Given the description of an element on the screen output the (x, y) to click on. 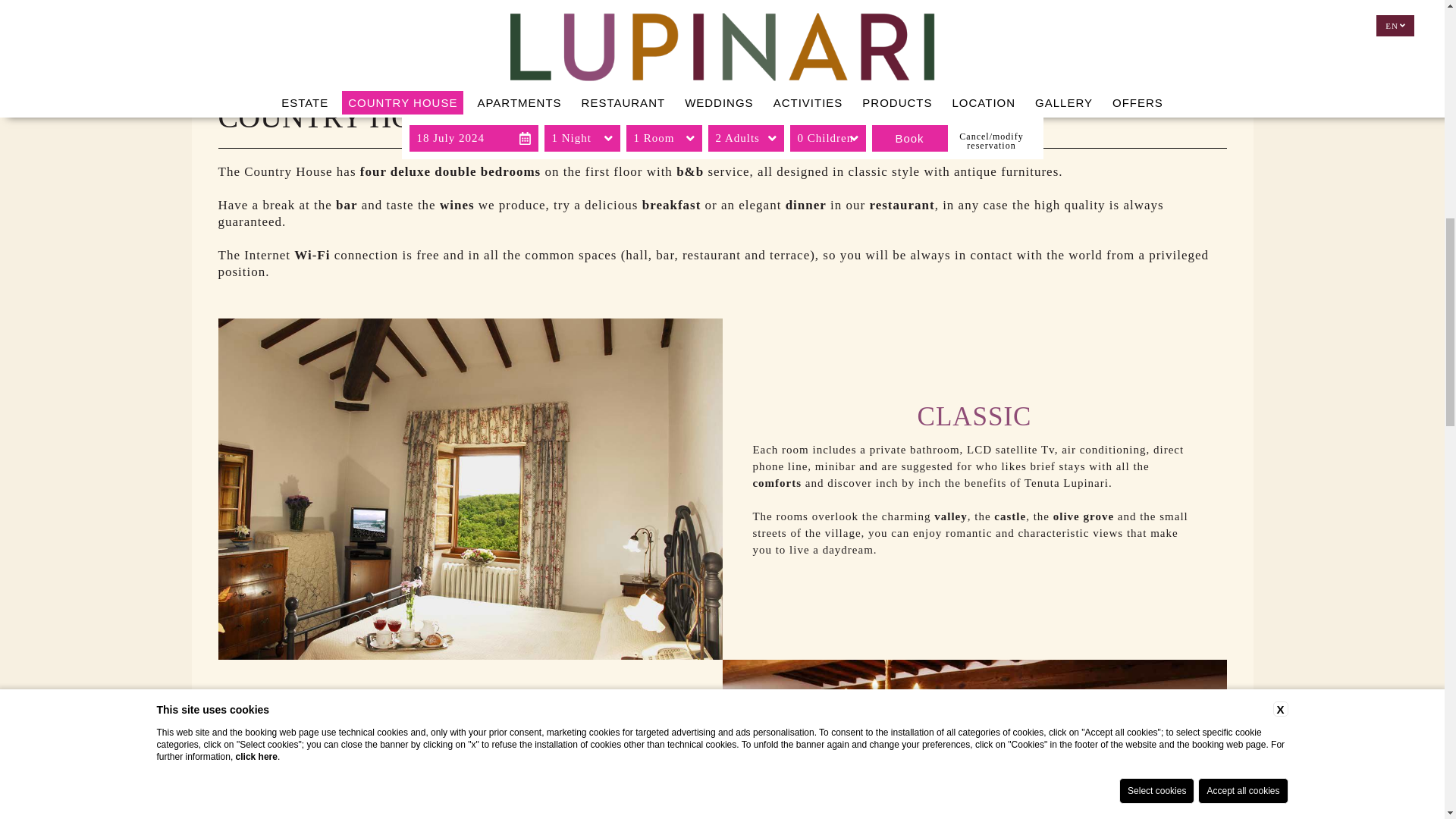
Country house (973, 739)
